Given the description of an element on the screen output the (x, y) to click on. 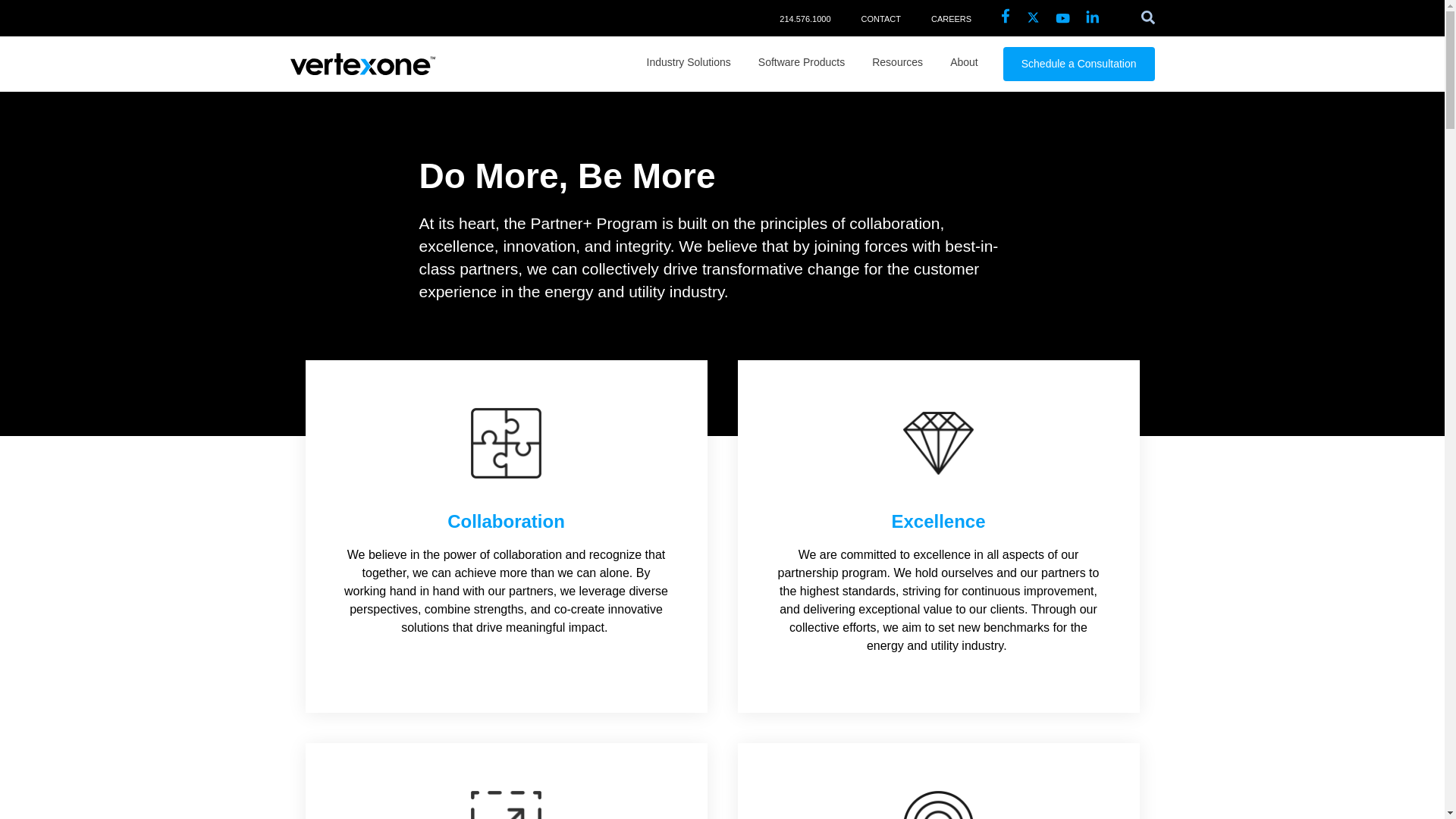
About (964, 62)
CAREERS (951, 18)
Industry Solutions (688, 62)
Software Products (801, 62)
CONTACT (881, 18)
Resources (897, 62)
214.576.1000 (803, 18)
VertexOne Header Logo (362, 64)
